Given the description of an element on the screen output the (x, y) to click on. 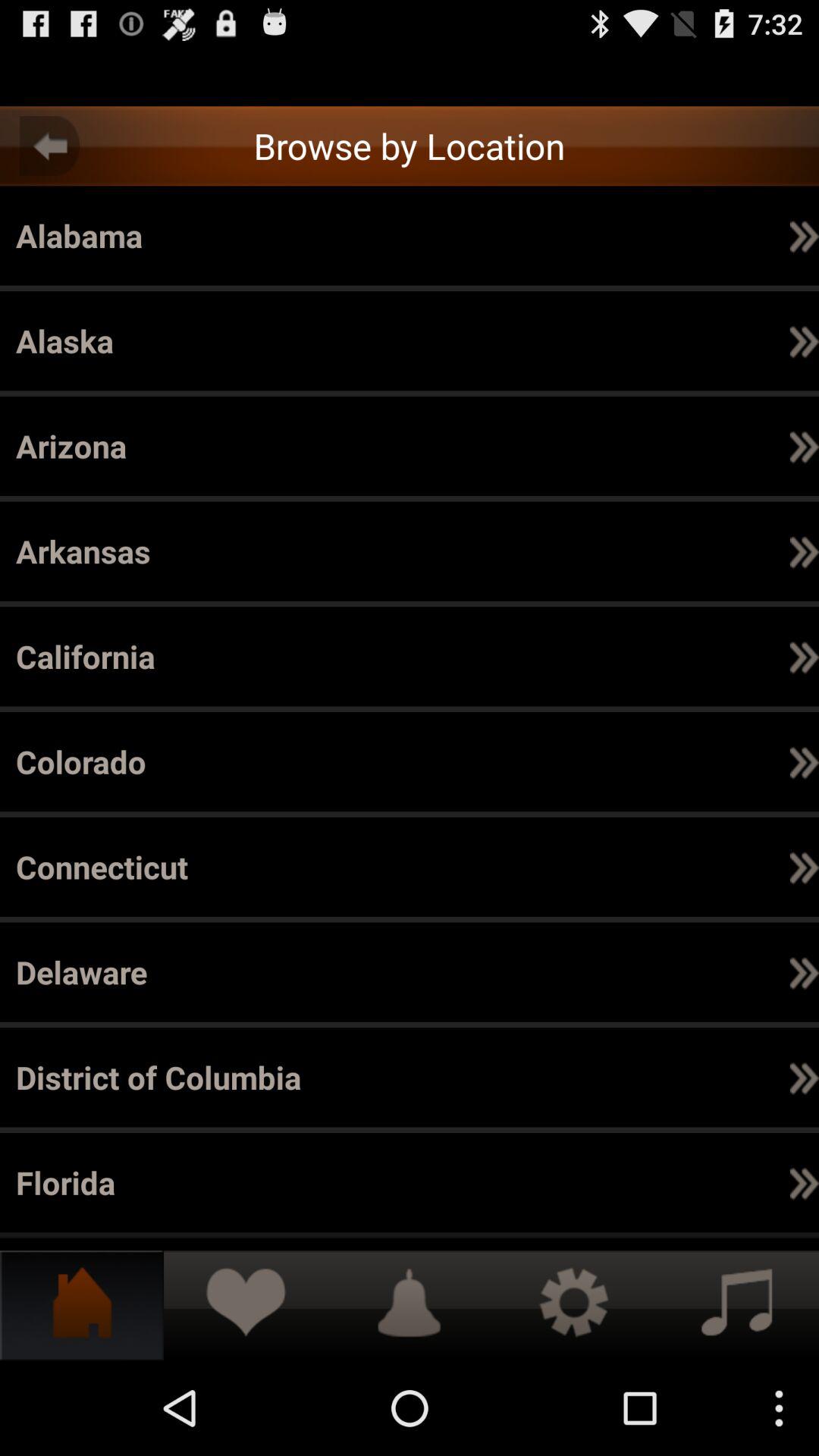
turn off the      icon (658, 866)
